Given the description of an element on the screen output the (x, y) to click on. 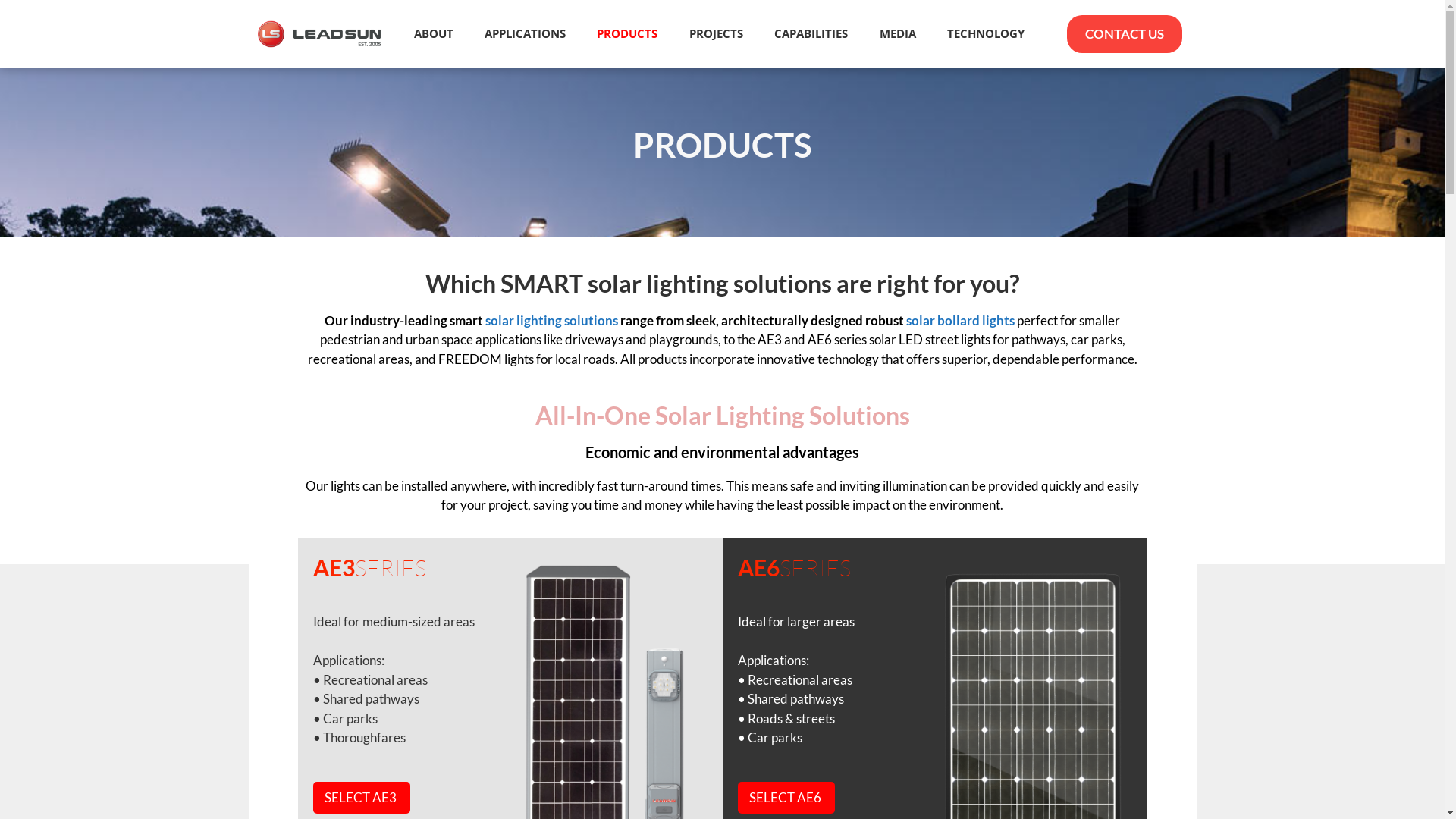
PROJECTS Element type: text (715, 33)
APPLICATIONS Element type: text (524, 33)
CONTACT US Element type: text (1124, 34)
SELECT AE3 Element type: text (360, 797)
solar lighting solutions Element type: text (551, 320)
ABOUT Element type: text (433, 33)
TECHNOLOGY Element type: text (985, 33)
SELECT AE6 Element type: text (785, 797)
solar bollard lights Element type: text (961, 320)
CAPABILITIES Element type: text (810, 33)
PRODUCTS Element type: text (627, 33)
MEDIA Element type: text (897, 33)
